Given the description of an element on the screen output the (x, y) to click on. 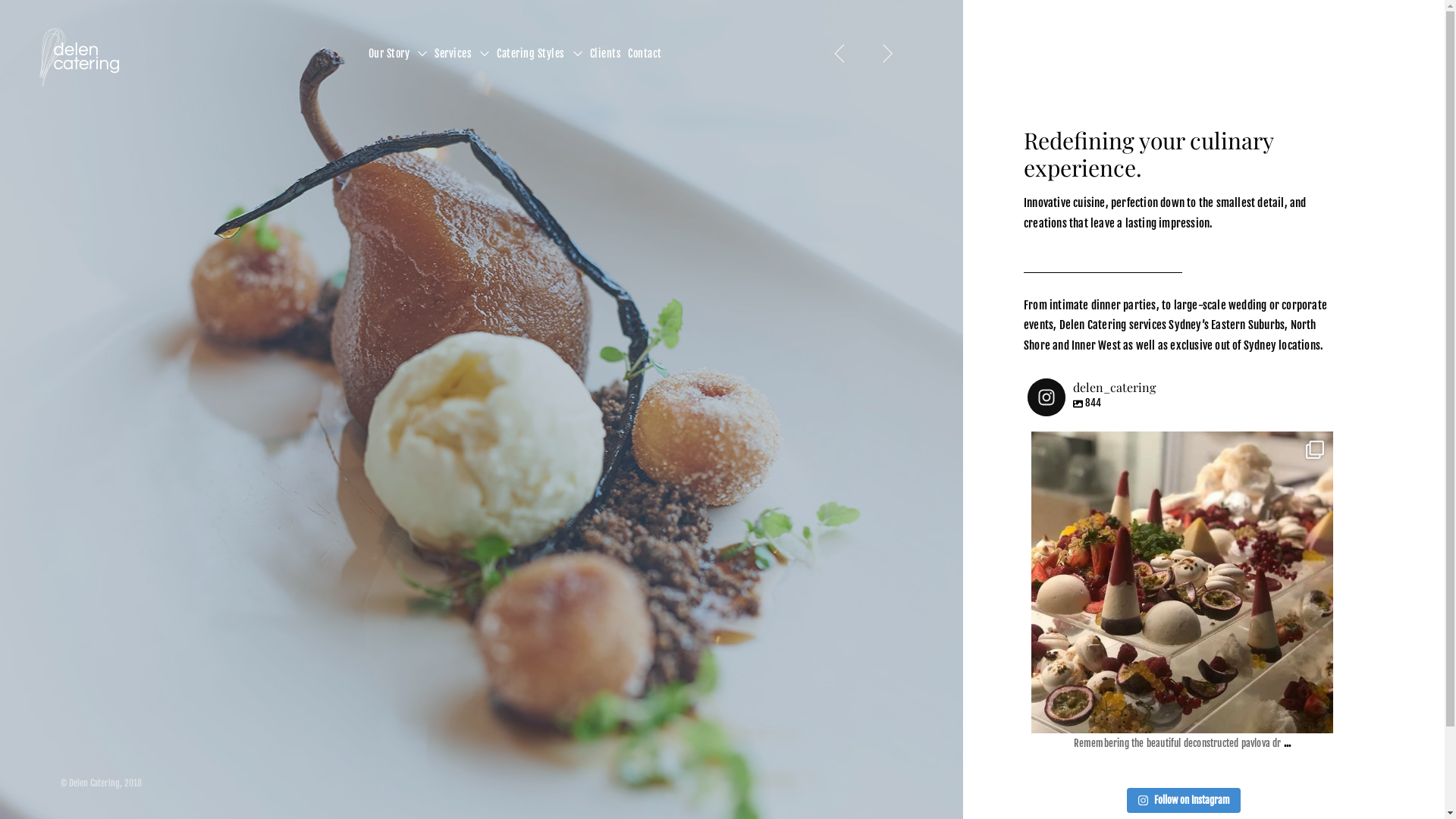
Follow on Instagram Element type: text (1183, 800)
Clients Element type: text (605, 54)
... Element type: text (1276, 742)
Contact Element type: text (644, 54)
Services Element type: text (452, 54)
A story is told with the creation of our exquisite Element type: text (1182, 582)
Search Element type: text (15, 15)
Our Story Element type: text (389, 54)
Catering Styles Element type: text (530, 54)
delen_catering
844 Element type: text (1091, 397)
Delen Catering Element type: text (64, 233)
Skip to content Element type: text (0, 0)
